Given the description of an element on the screen output the (x, y) to click on. 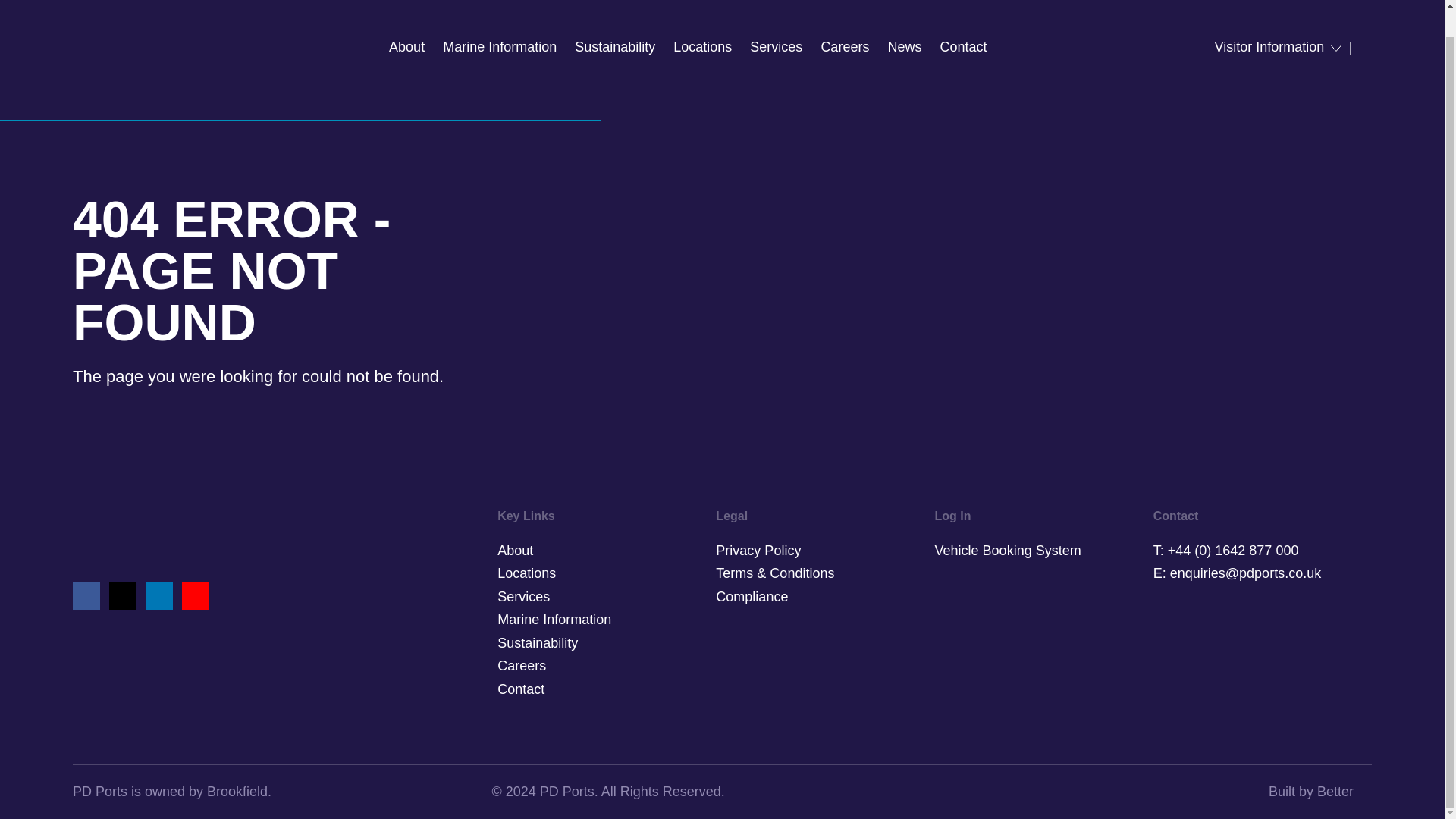
Locations (702, 19)
About (406, 19)
Sustainability (615, 19)
Marine Information (499, 19)
